Given the description of an element on the screen output the (x, y) to click on. 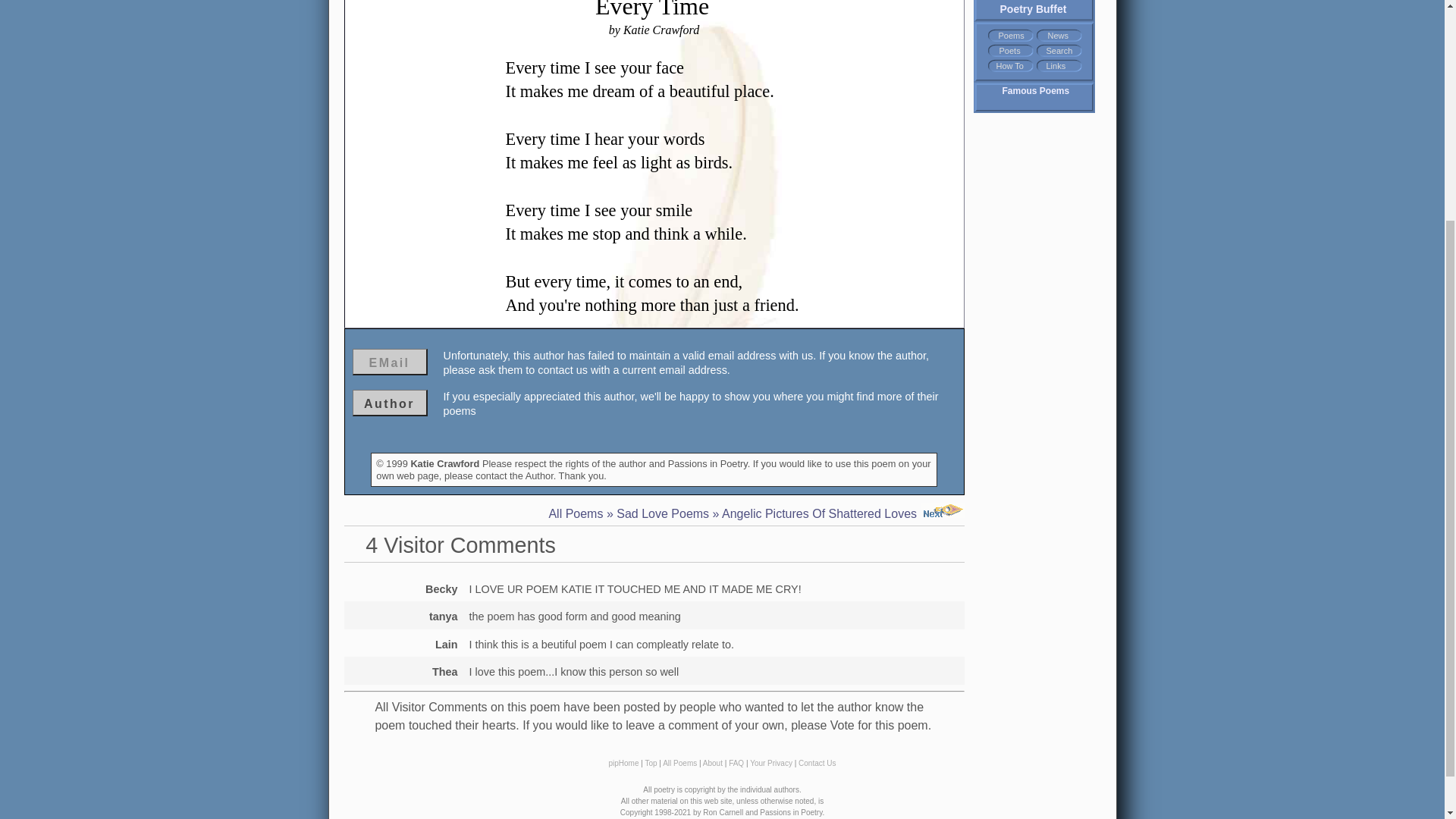
Search (1059, 51)
Comments (653, 629)
Your Privacy (770, 763)
Advanced Search Options (1059, 51)
How to Write Better Poetry (1009, 65)
News (1058, 35)
Poetry Categories Site Map (1010, 35)
Poetry and Site News (1058, 35)
All Poems (575, 513)
Response Panel (653, 411)
